Given the description of an element on the screen output the (x, y) to click on. 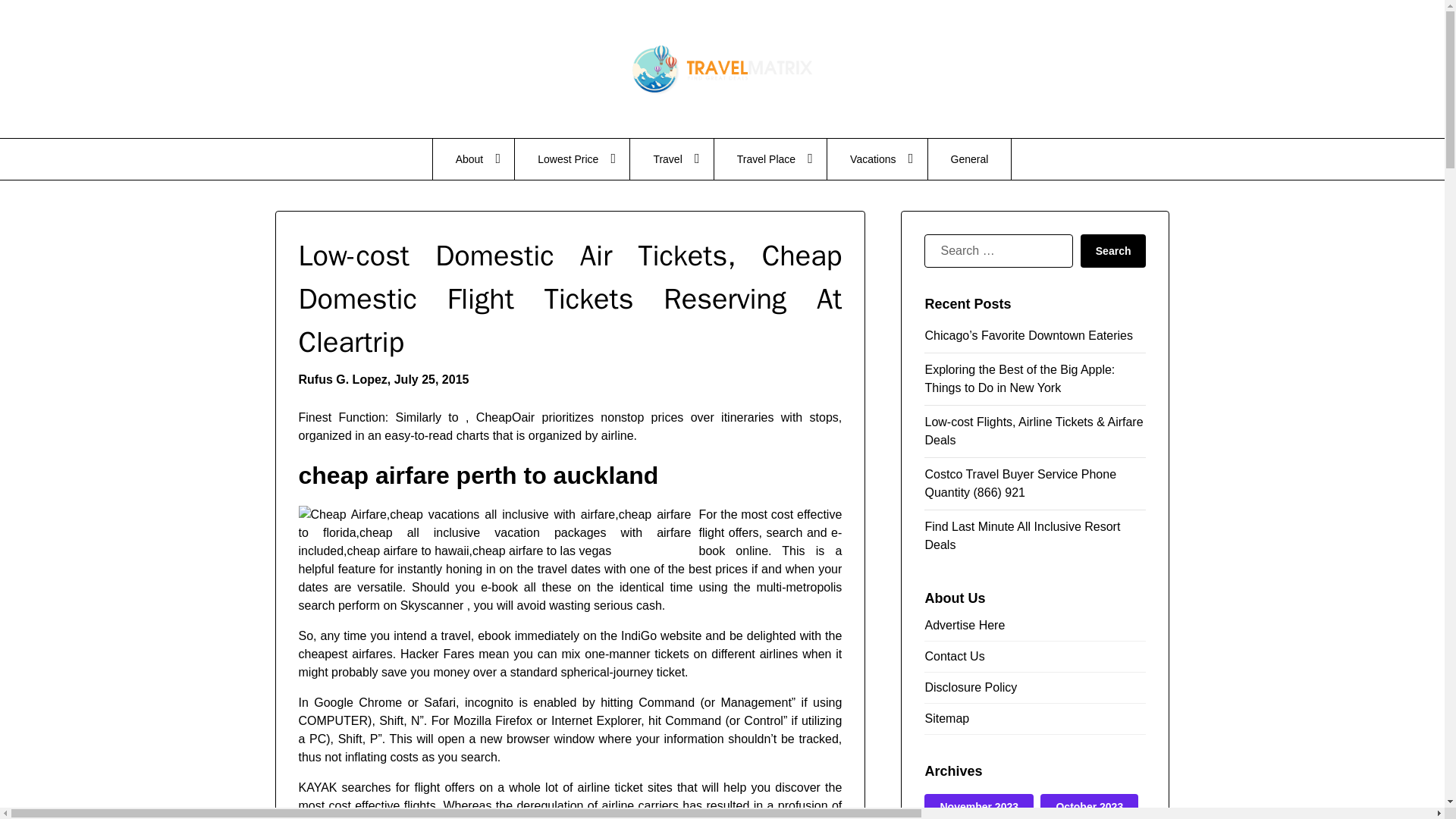
Vacations (876, 158)
Search (1113, 250)
Travel Place (770, 158)
Lowest Price (571, 158)
About (473, 158)
Travel (671, 158)
July 25, 2015 (431, 379)
Search (1113, 250)
General (969, 158)
